Given the description of an element on the screen output the (x, y) to click on. 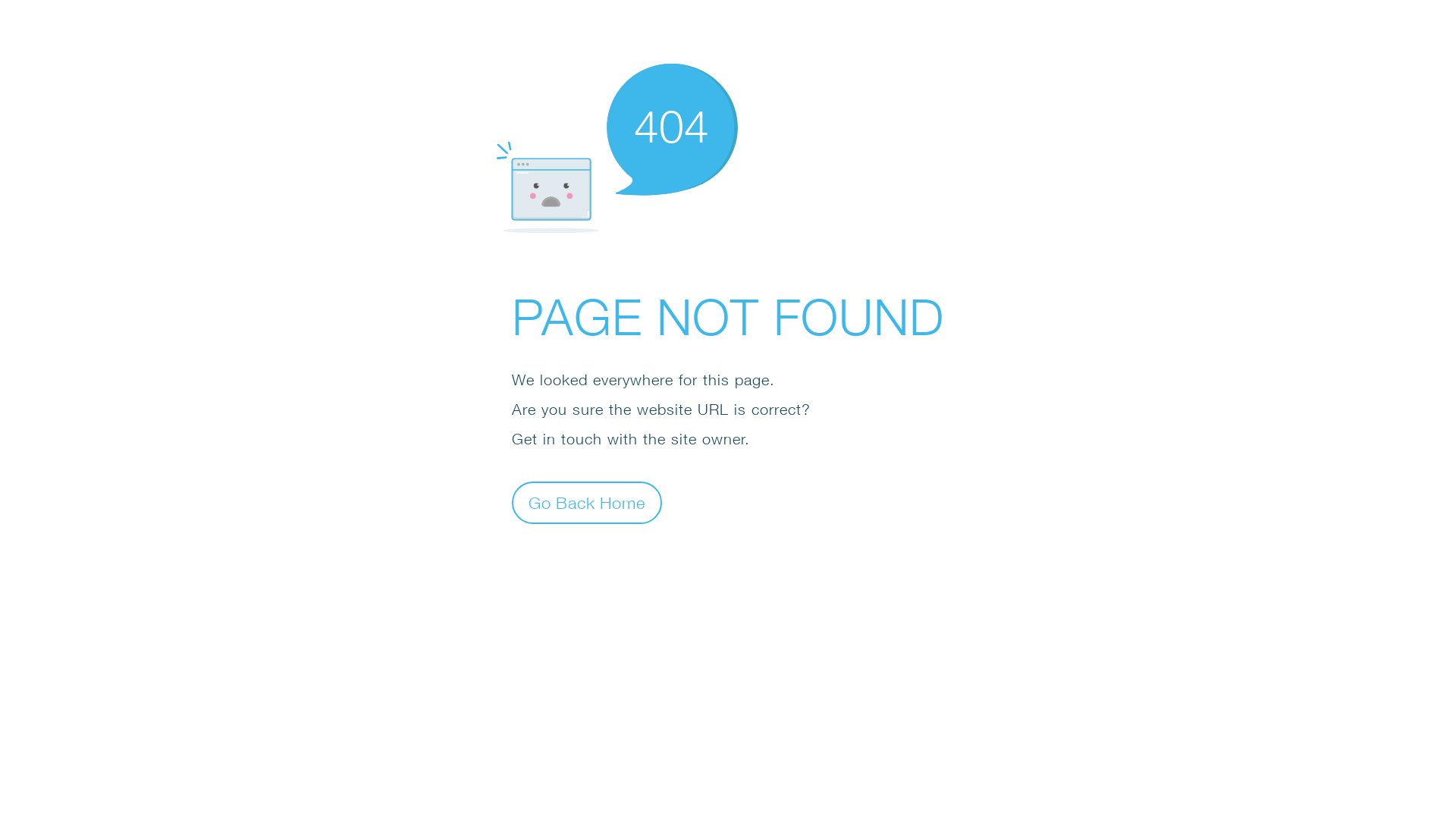
Go Back Home Element type: text (586, 502)
